Given the description of an element on the screen output the (x, y) to click on. 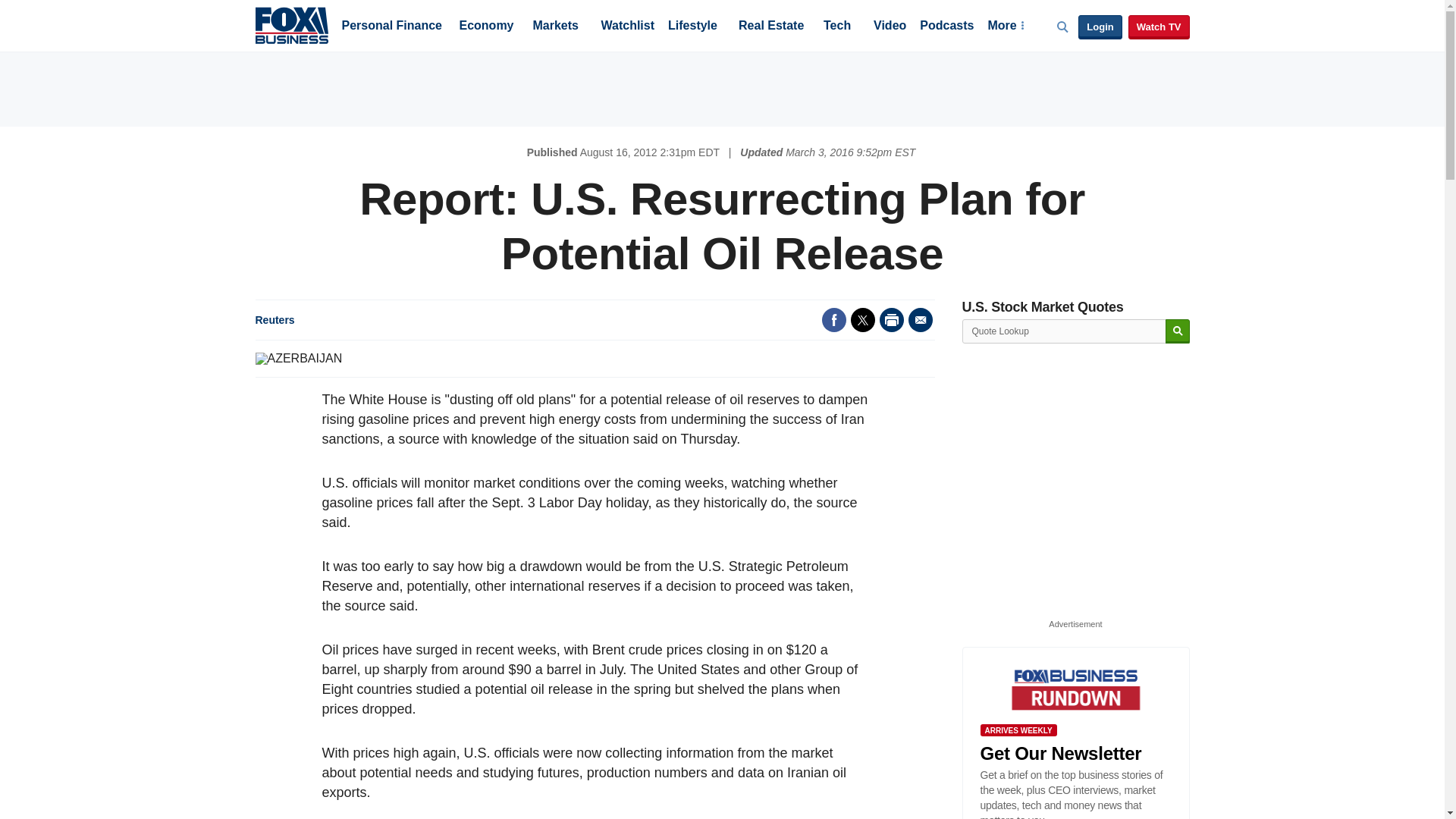
Watchlist (626, 27)
Search (1176, 331)
Login (1099, 27)
Tech (837, 27)
Search (1176, 331)
More (1005, 27)
Economy (486, 27)
Watch TV (1158, 27)
Video (889, 27)
Real Estate (770, 27)
